Given the description of an element on the screen output the (x, y) to click on. 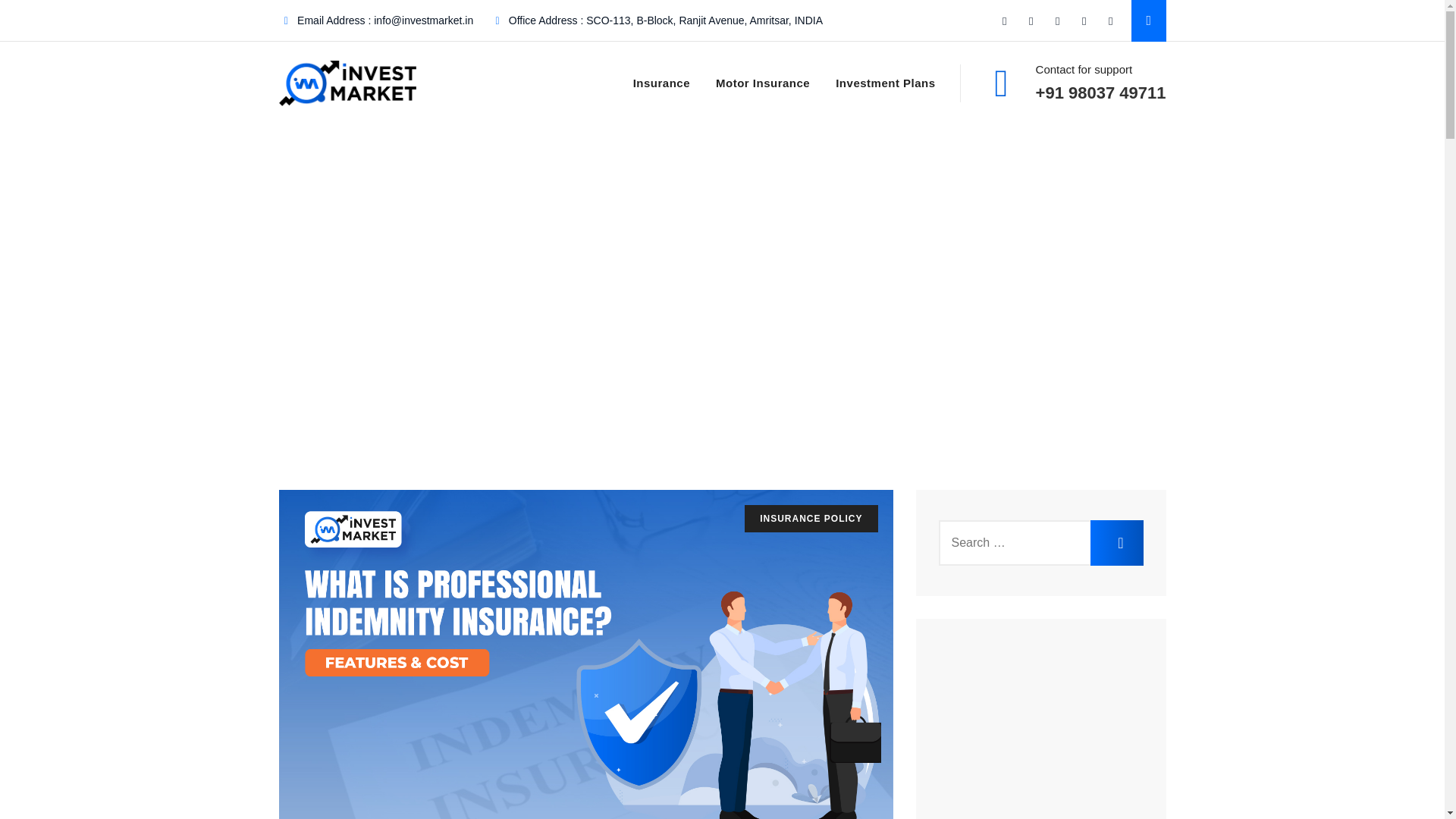
INSURANCE POLICY (810, 518)
Blog (376, 316)
Motor Insurance (762, 83)
Go to the Insurance Policy Category archives. (448, 316)
Invest Market (315, 316)
Go to Blog. (376, 316)
Go to Invest Market. (315, 316)
Insurance Policy (448, 316)
Investment Plans (884, 83)
Invest Market (347, 83)
